Given the description of an element on the screen output the (x, y) to click on. 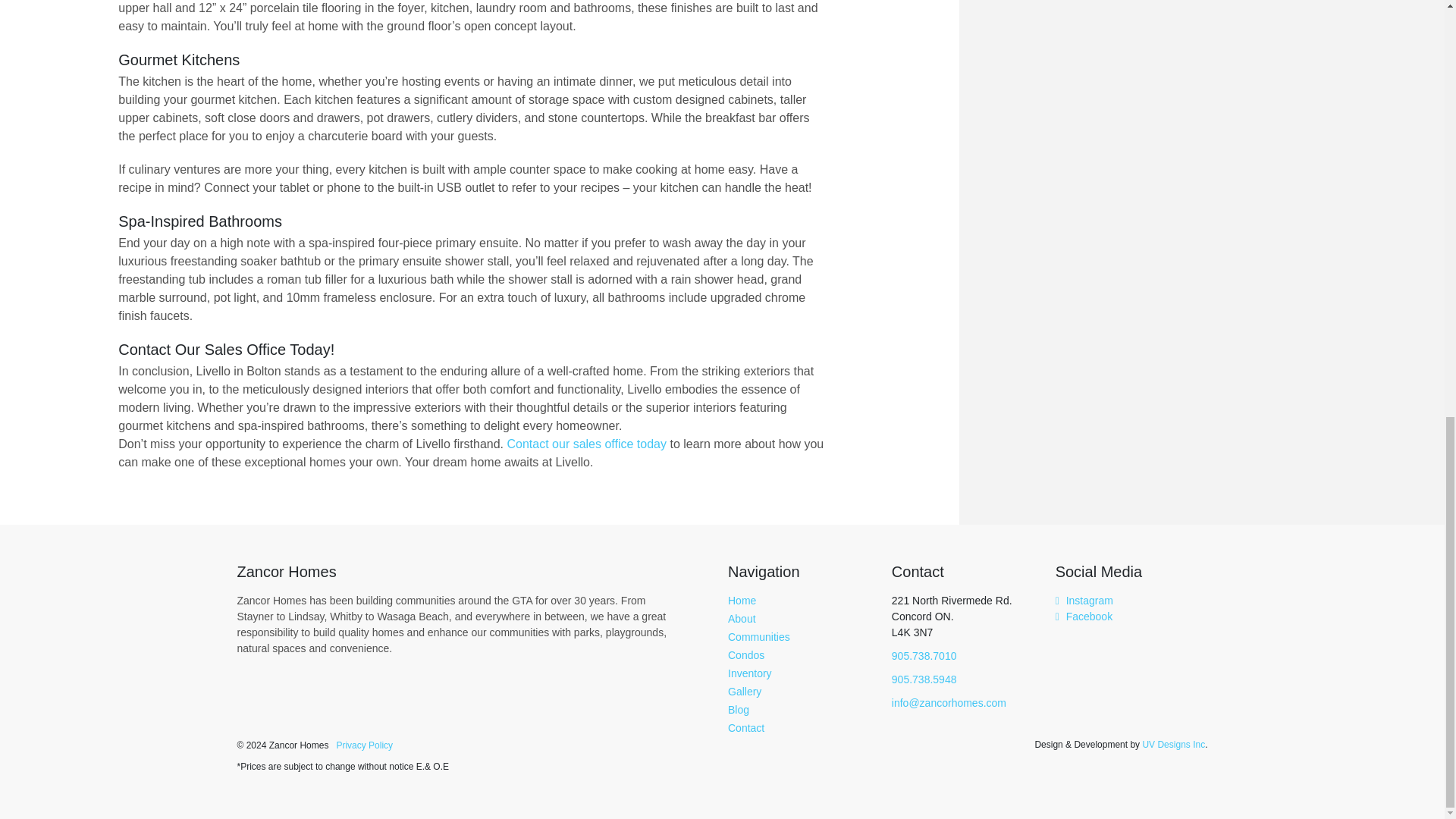
Communities (759, 636)
Contact (746, 727)
Blog (738, 709)
Inventory (749, 673)
Contact our sales office today (586, 442)
Gallery (744, 691)
About (741, 618)
Condos (746, 654)
Home (741, 600)
Web Design Toronto (1173, 743)
